Given the description of an element on the screen output the (x, y) to click on. 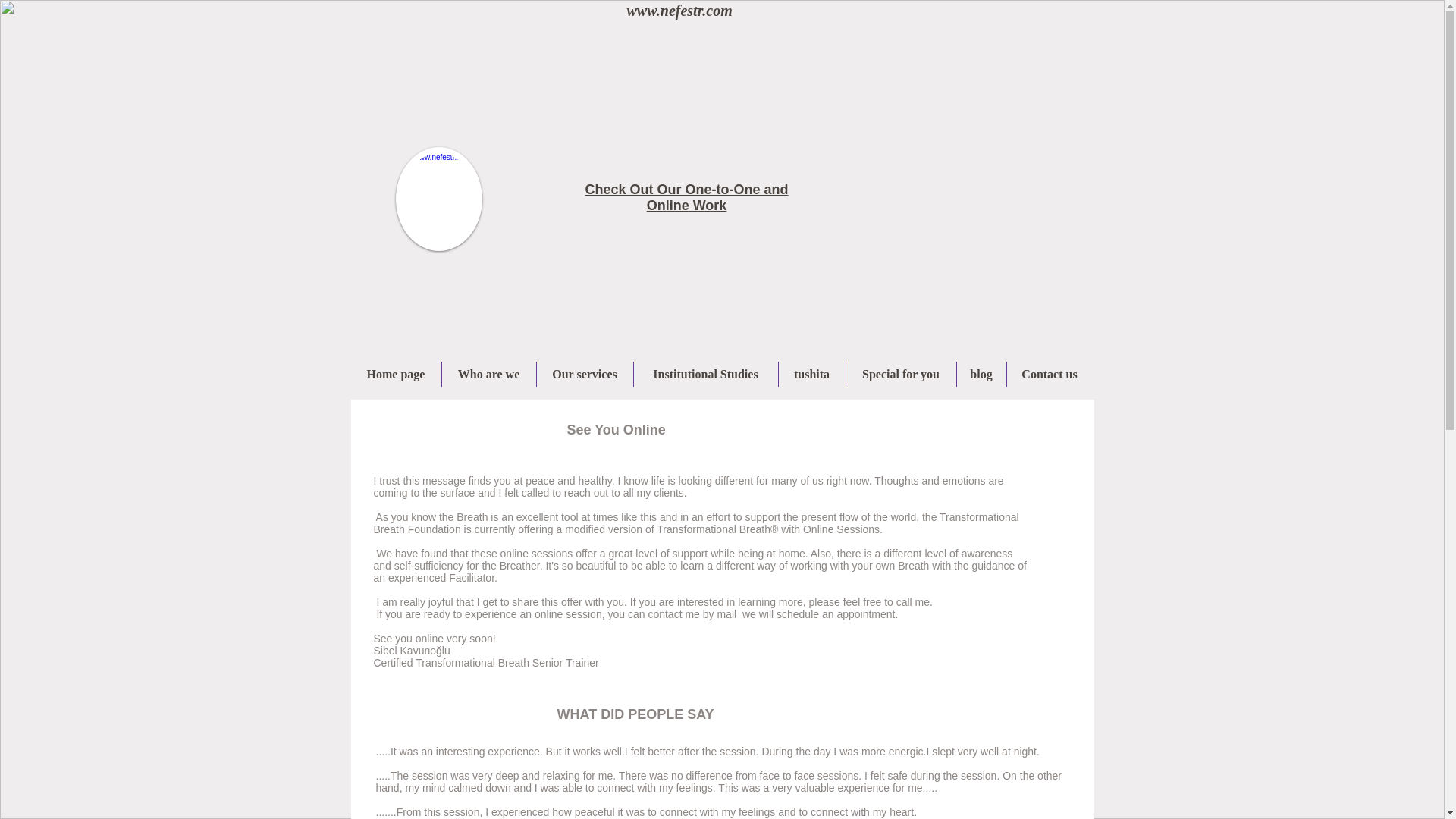
Home page (395, 373)
Contact us (1050, 373)
www.nefestr.com (679, 10)
Institutional Studies (705, 373)
tushita (810, 373)
Special for you (900, 373)
Who are we (488, 373)
Our services (585, 373)
Check Out Our One-to-One and Online Work (686, 196)
blog (981, 373)
